Given the description of an element on the screen output the (x, y) to click on. 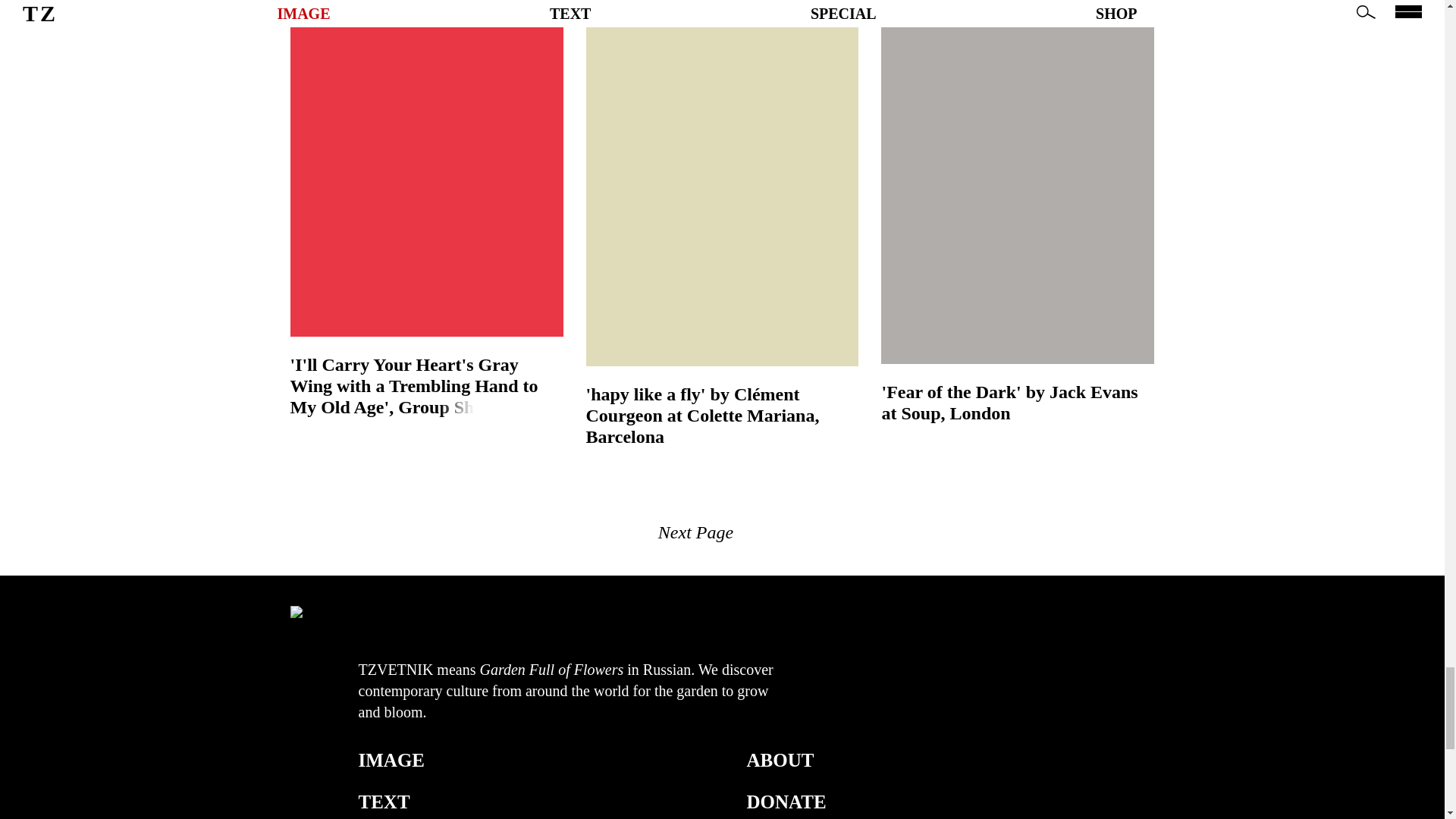
'Fear of the Dark' by Jack Evans at Soup, London (1017, 402)
Next Page (694, 532)
TEXT (383, 802)
IMAGE (391, 760)
